Given the description of an element on the screen output the (x, y) to click on. 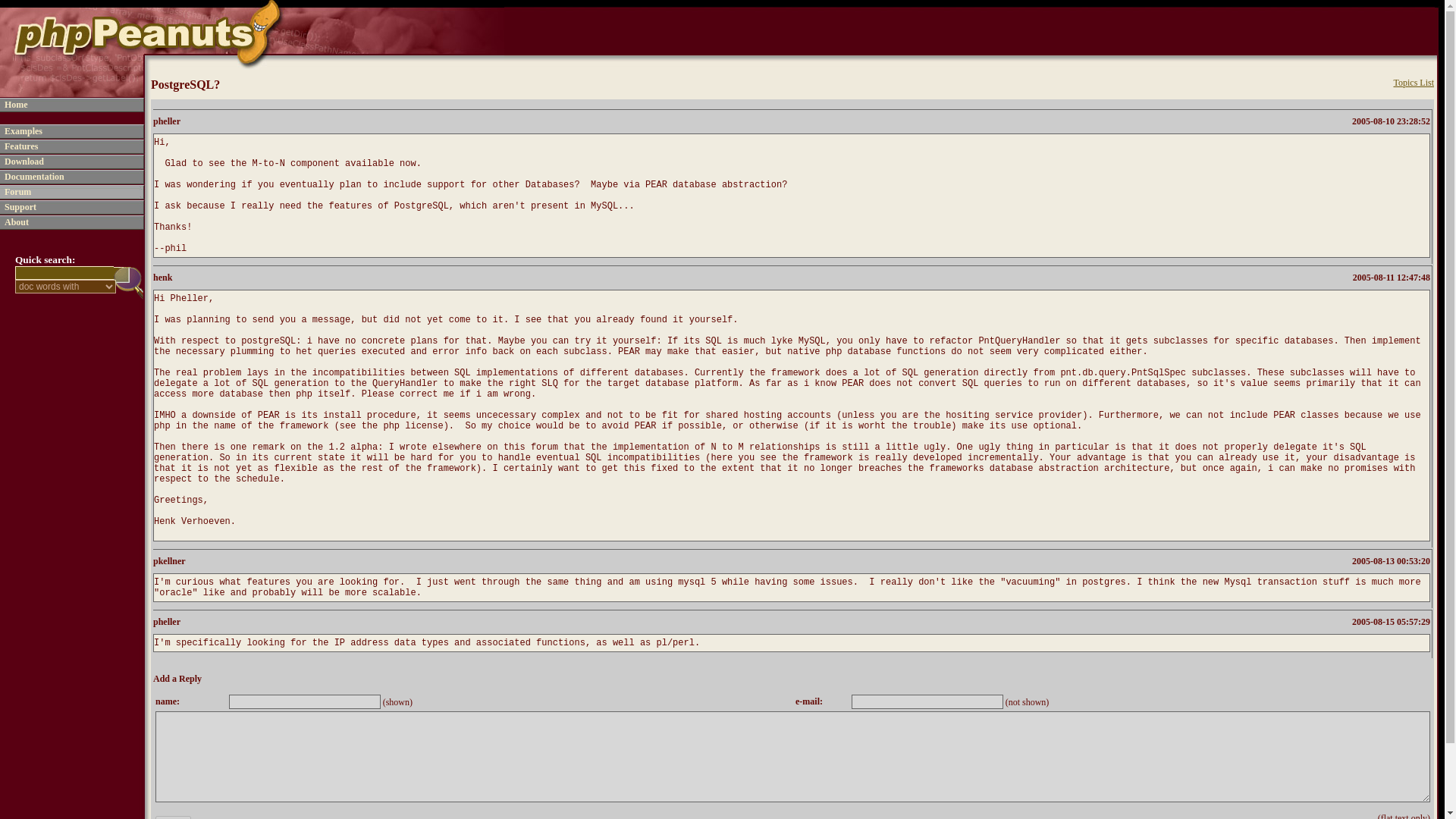
Support (20, 205)
Documentation (34, 175)
meetingpoint for developers using phpPeanuts  (17, 191)
Features (20, 145)
how to contact the firm behind www.phppeanuts.org (16, 221)
Home (15, 102)
features and limitations (20, 145)
try the examples on line (23, 130)
Examples (23, 130)
limited free support, link to commercial support (20, 205)
About (16, 221)
Forum (17, 191)
download now (23, 160)
Download (23, 160)
